Given the description of an element on the screen output the (x, y) to click on. 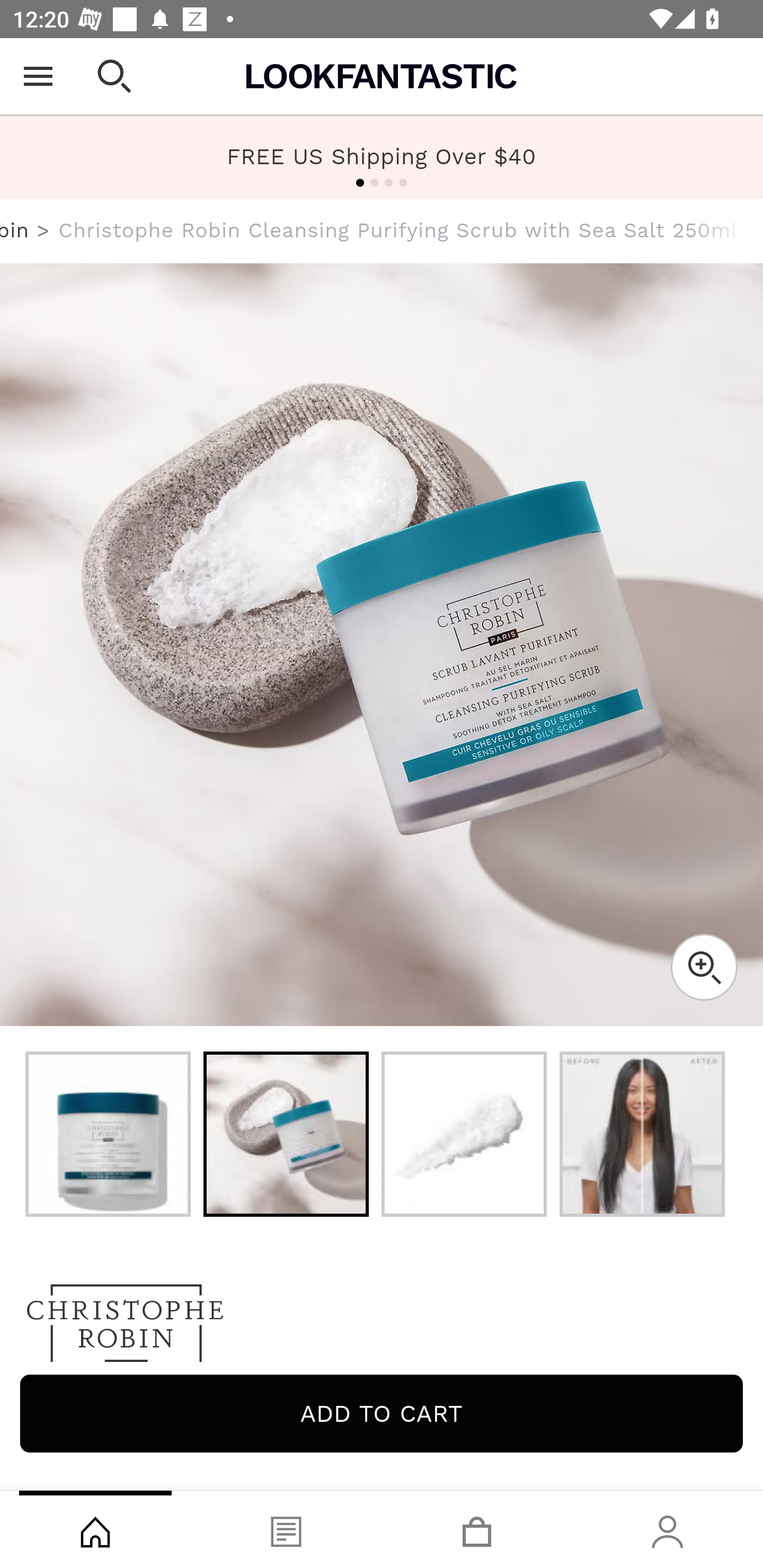
Open Menu (38, 75)
Open search (114, 75)
Lookfantastic USA (381, 75)
FREE US Shipping Over $40 (381, 157)
FREE US Shipping Over $40 (381, 155)
Christophe Robin (15, 230)
Zoom (703, 966)
Christophe Robin (381, 1327)
Add to cart (381, 1413)
Shop, tab, 1 of 4 (95, 1529)
Blog, tab, 2 of 4 (285, 1529)
Basket, tab, 3 of 4 (476, 1529)
Account, tab, 4 of 4 (667, 1529)
